Given the description of an element on the screen output the (x, y) to click on. 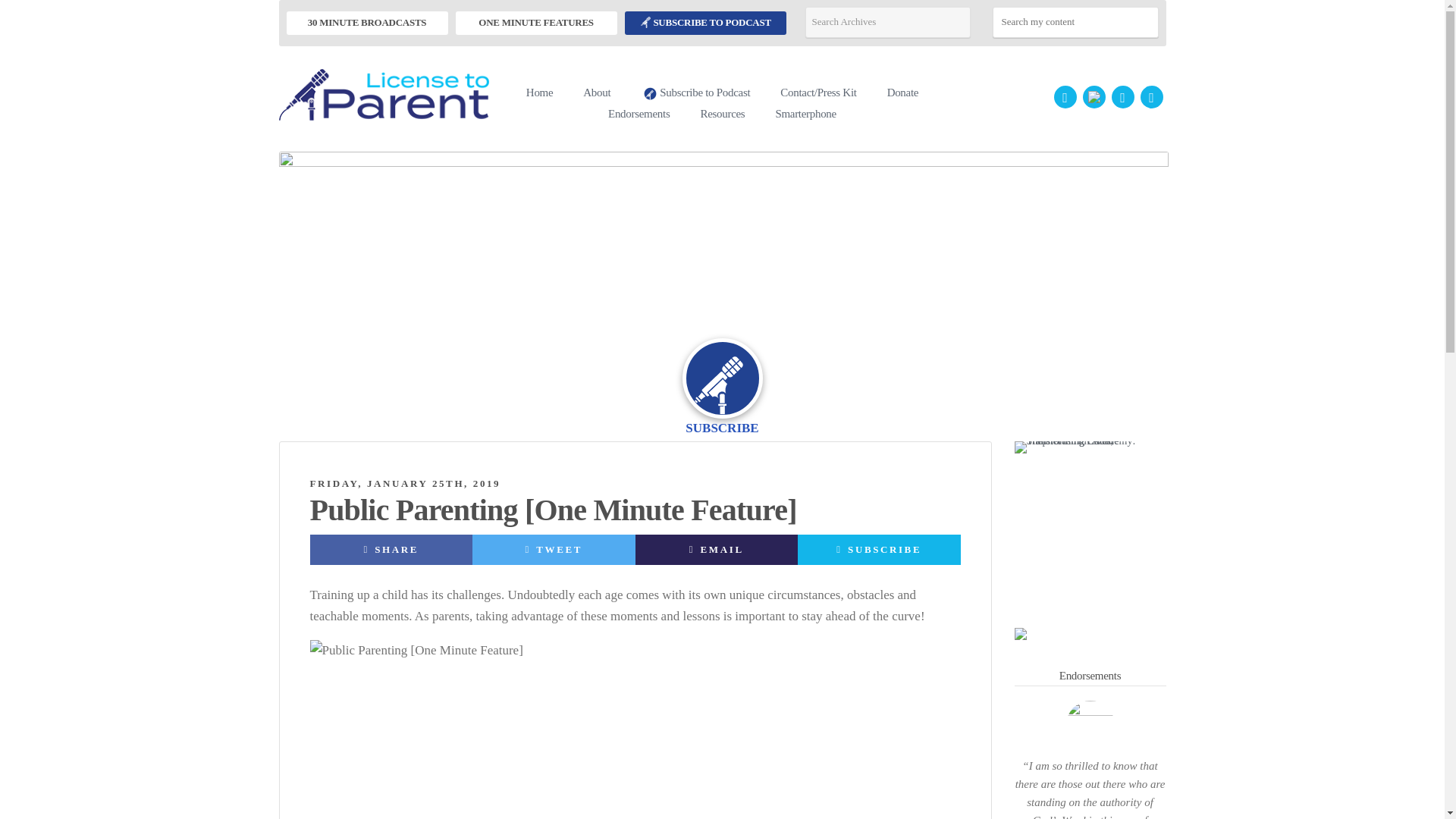
Subscribe to Podcast (695, 93)
Smarterphone (805, 112)
TWEET (552, 549)
SUBSCRIBE (878, 549)
Search (1143, 22)
RSS Feed (1151, 96)
Home (539, 91)
EMAIL (715, 549)
30 MINUTE BROADCASTS (367, 23)
Search (1143, 22)
